Given the description of an element on the screen output the (x, y) to click on. 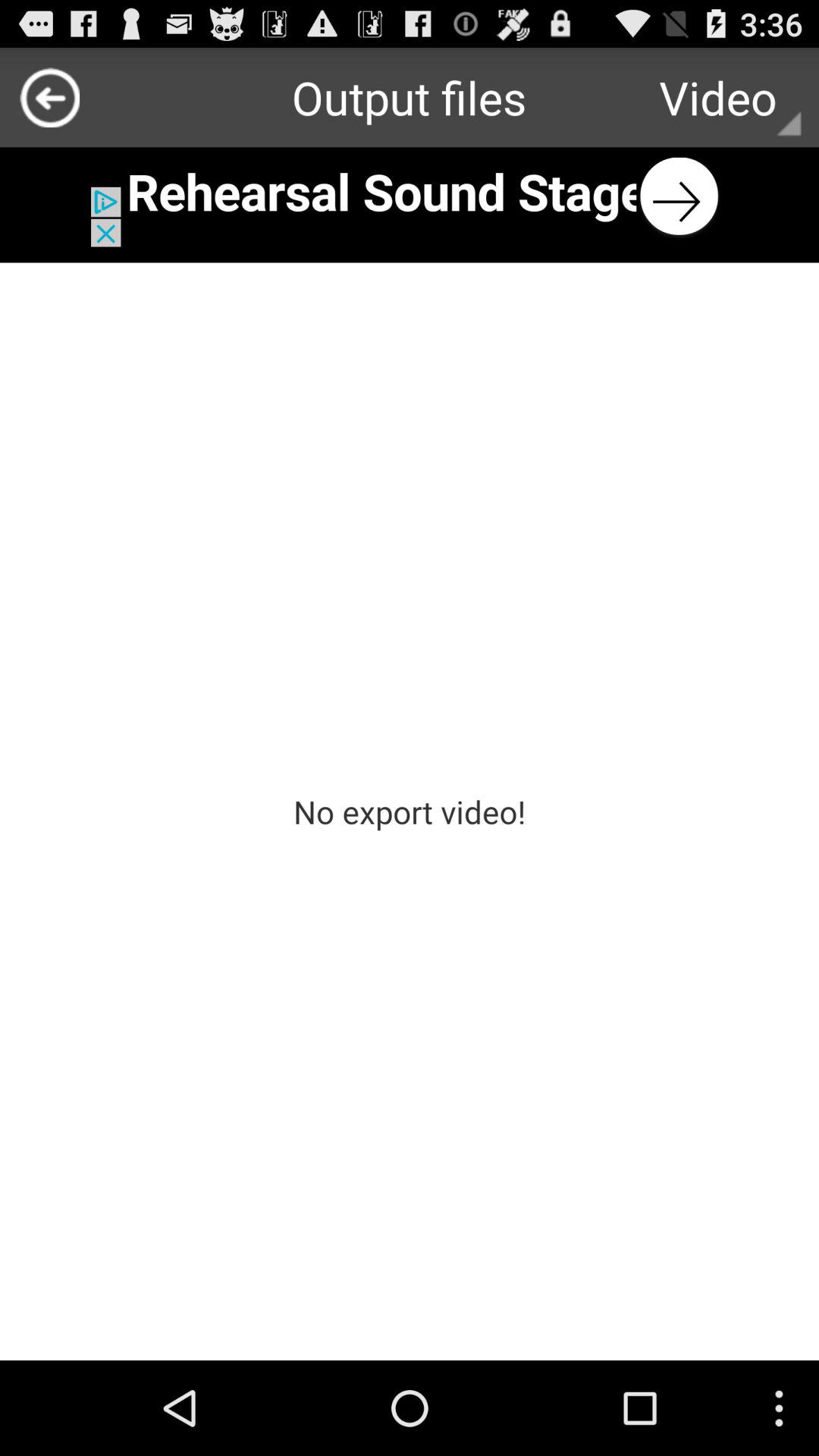
go back (49, 97)
